Given the description of an element on the screen output the (x, y) to click on. 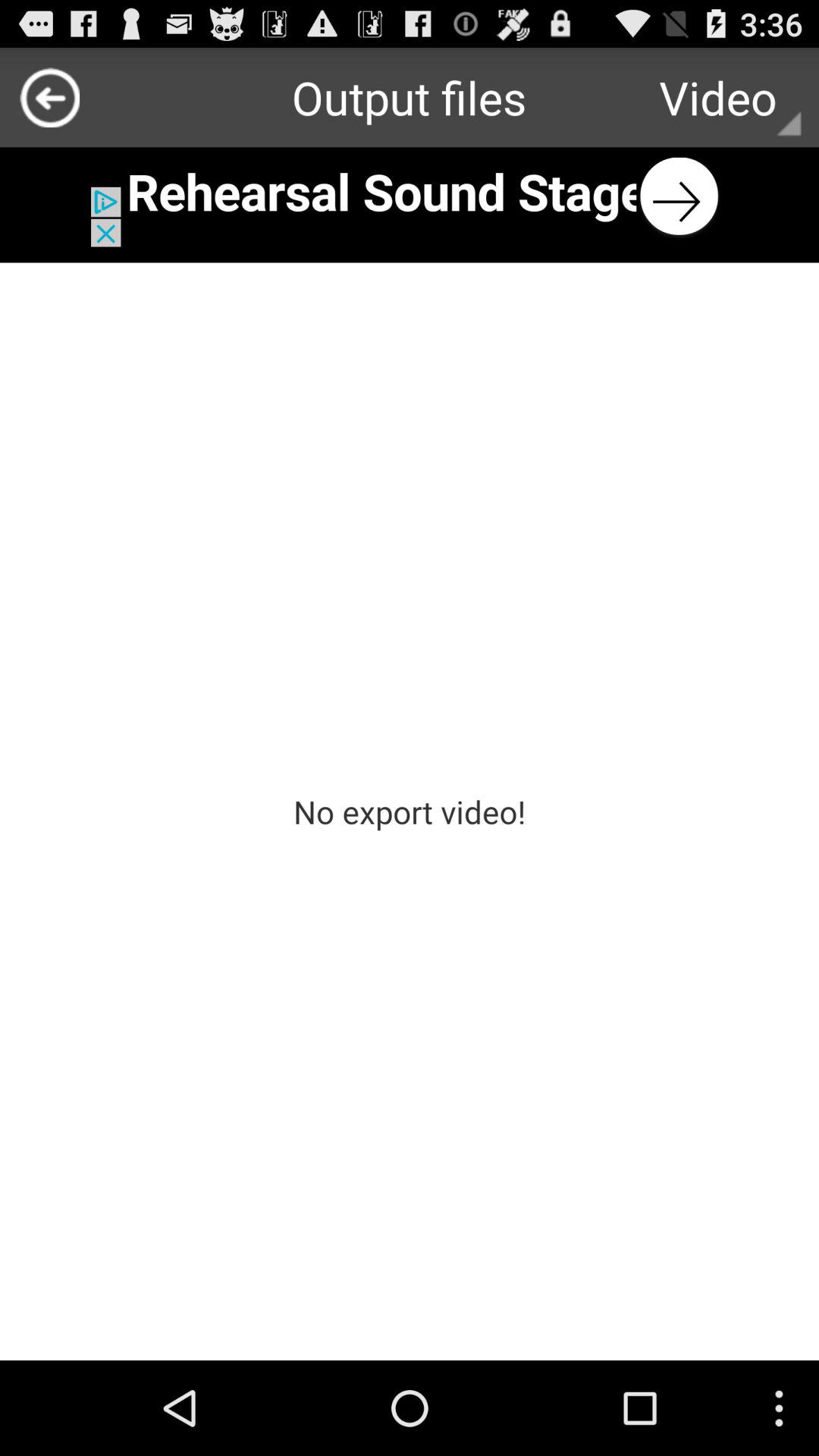
go back (49, 97)
